Given the description of an element on the screen output the (x, y) to click on. 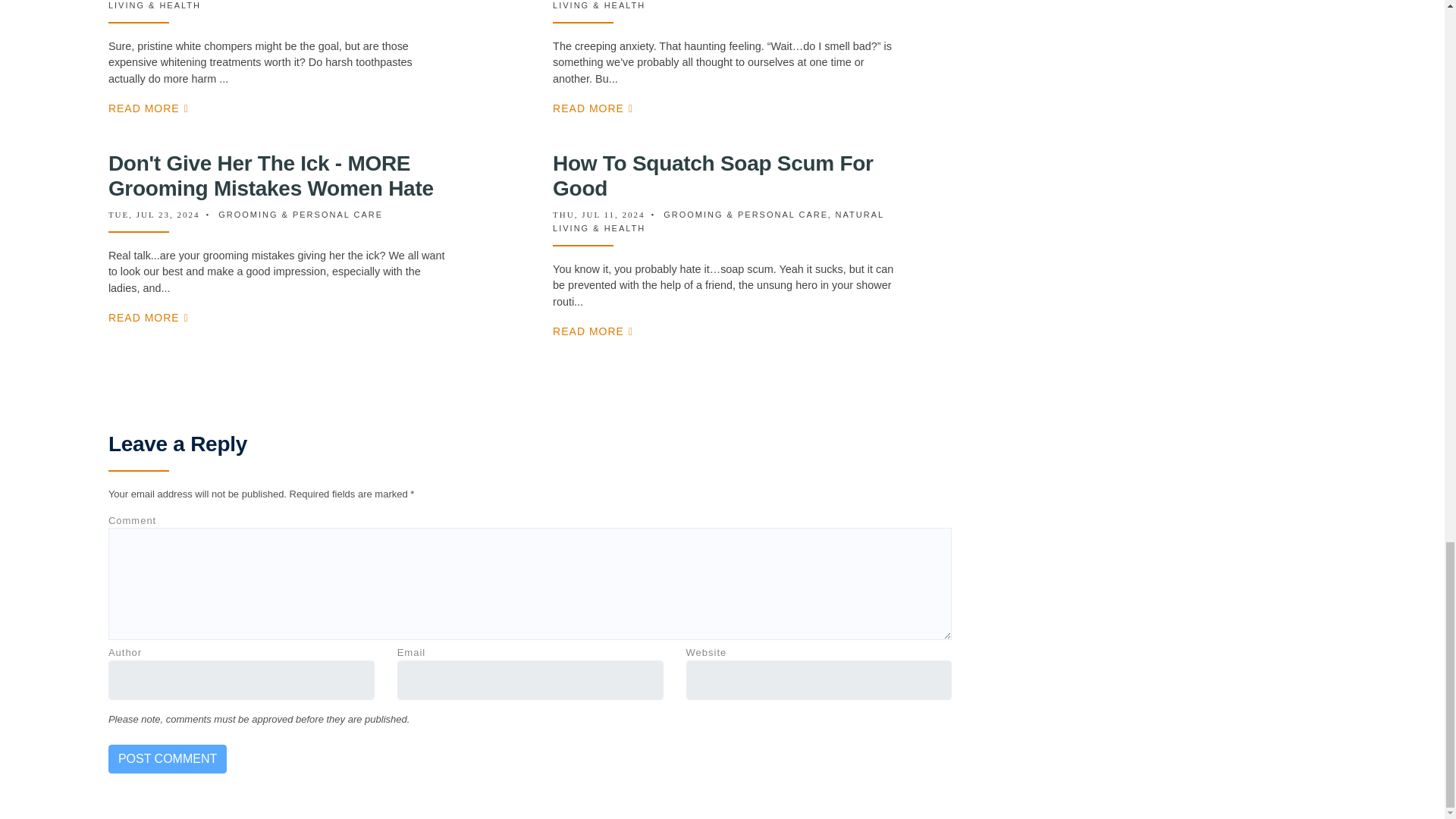
POST COMMENT (167, 758)
READ MORE (593, 108)
READ MORE (148, 108)
